Given the description of an element on the screen output the (x, y) to click on. 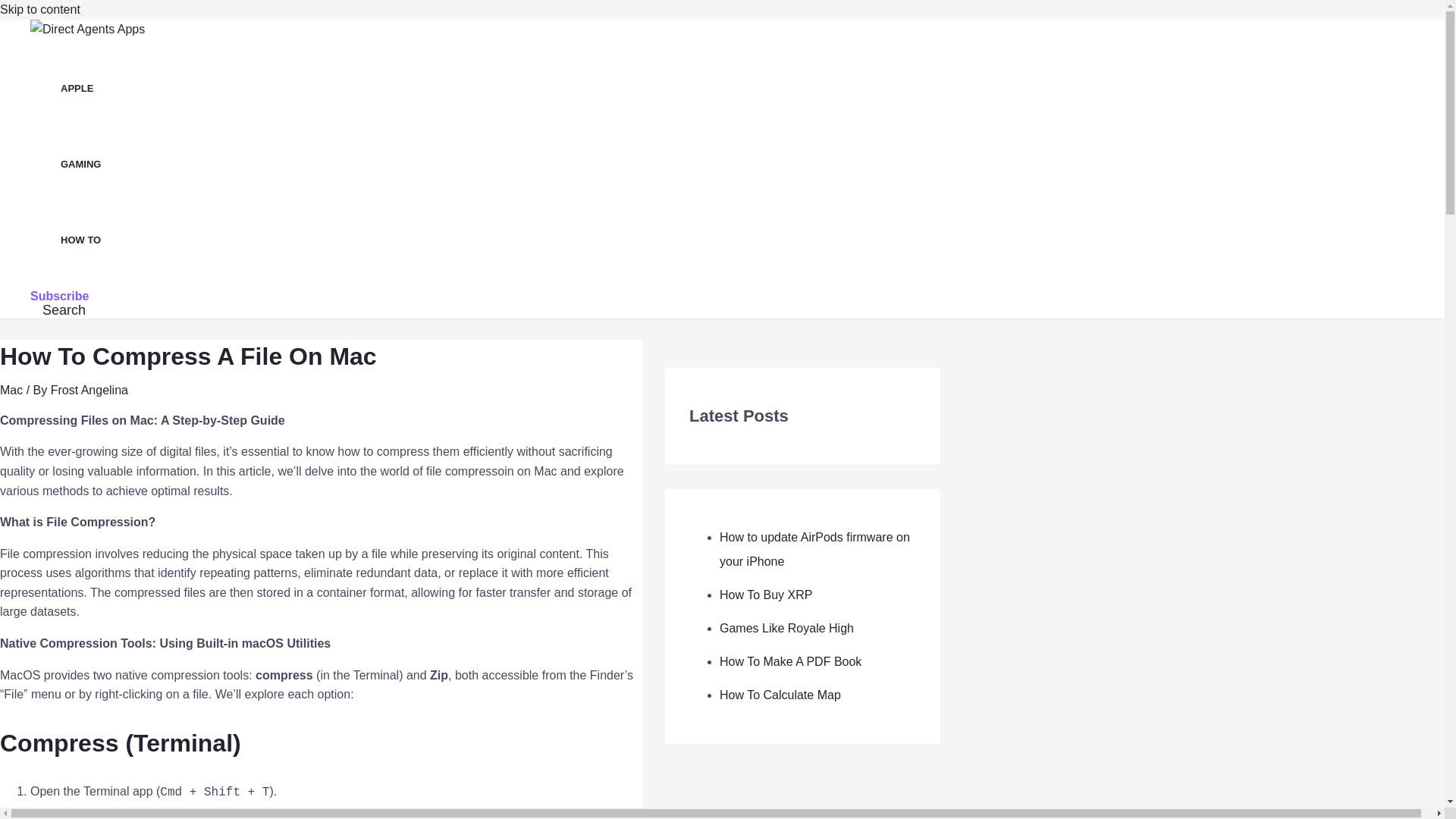
How To Buy XRP (765, 594)
Skip to content (40, 9)
Skip to content (40, 9)
View all posts by Frost Angelina (89, 390)
Mac (11, 390)
How To Make A PDF Book (790, 661)
How To Calculate Map (780, 694)
Subscribe (59, 296)
How to update AirPods firmware on your iPhone (814, 549)
Frost Angelina (89, 390)
Games Like Royale High (786, 627)
Search (63, 310)
